Given the description of an element on the screen output the (x, y) to click on. 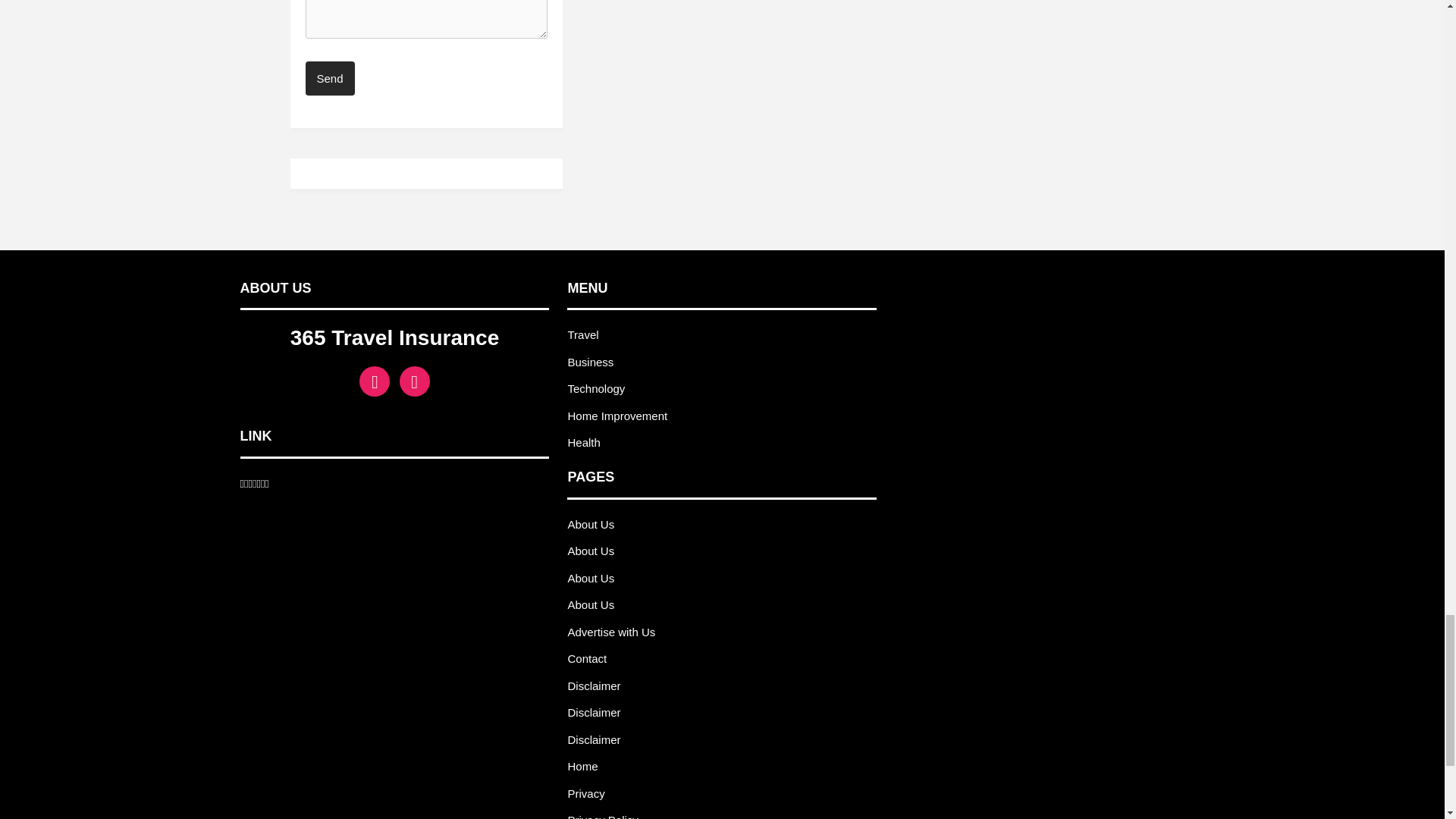
Send (328, 78)
